Given the description of an element on the screen output the (x, y) to click on. 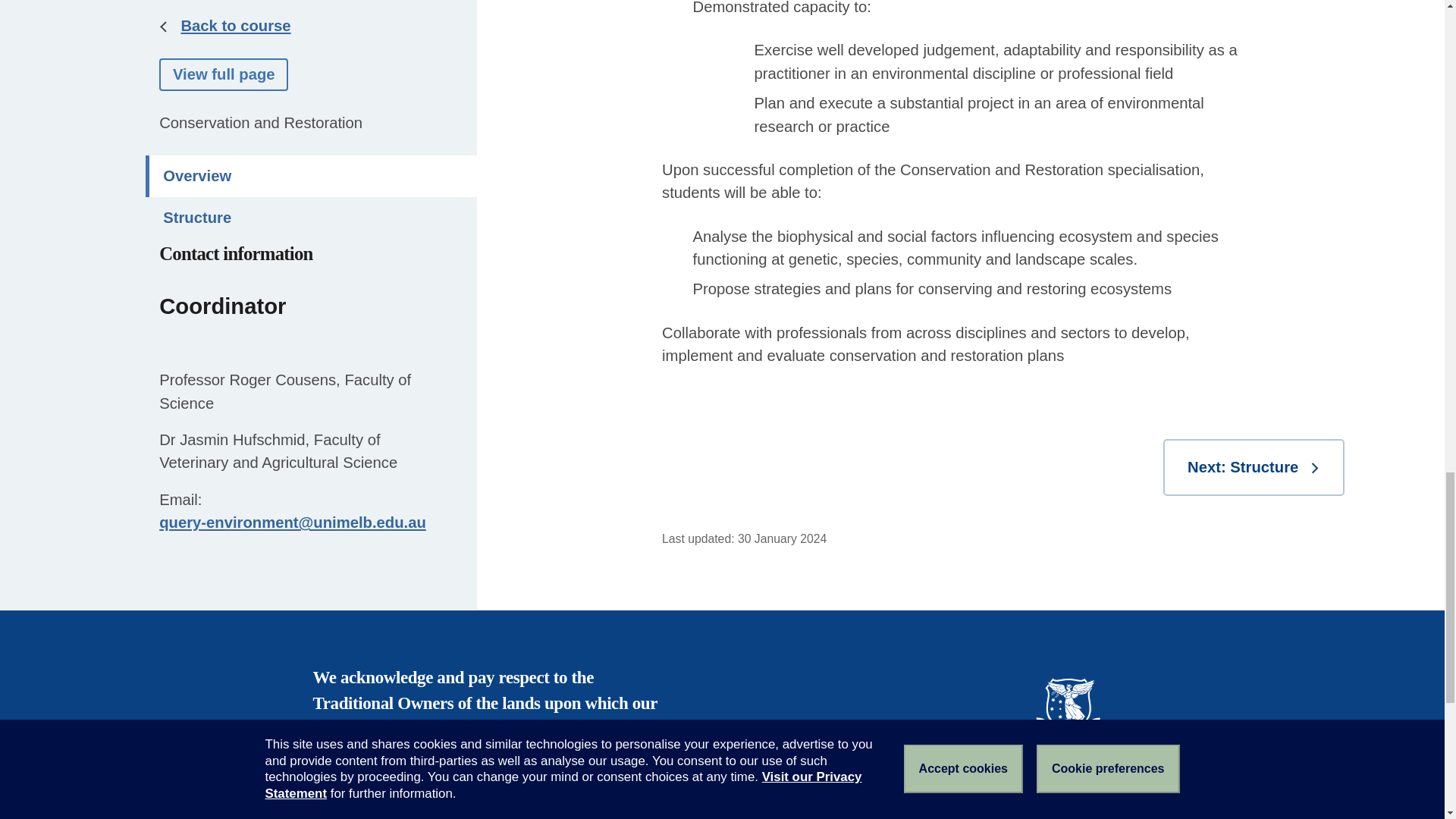
Facebook (1019, 811)
Next: Structure (1253, 467)
LinkedIn (1083, 811)
Twitter (1051, 811)
Instagram (1115, 811)
Read about our commitment to reconciliation (470, 767)
